Given the description of an element on the screen output the (x, y) to click on. 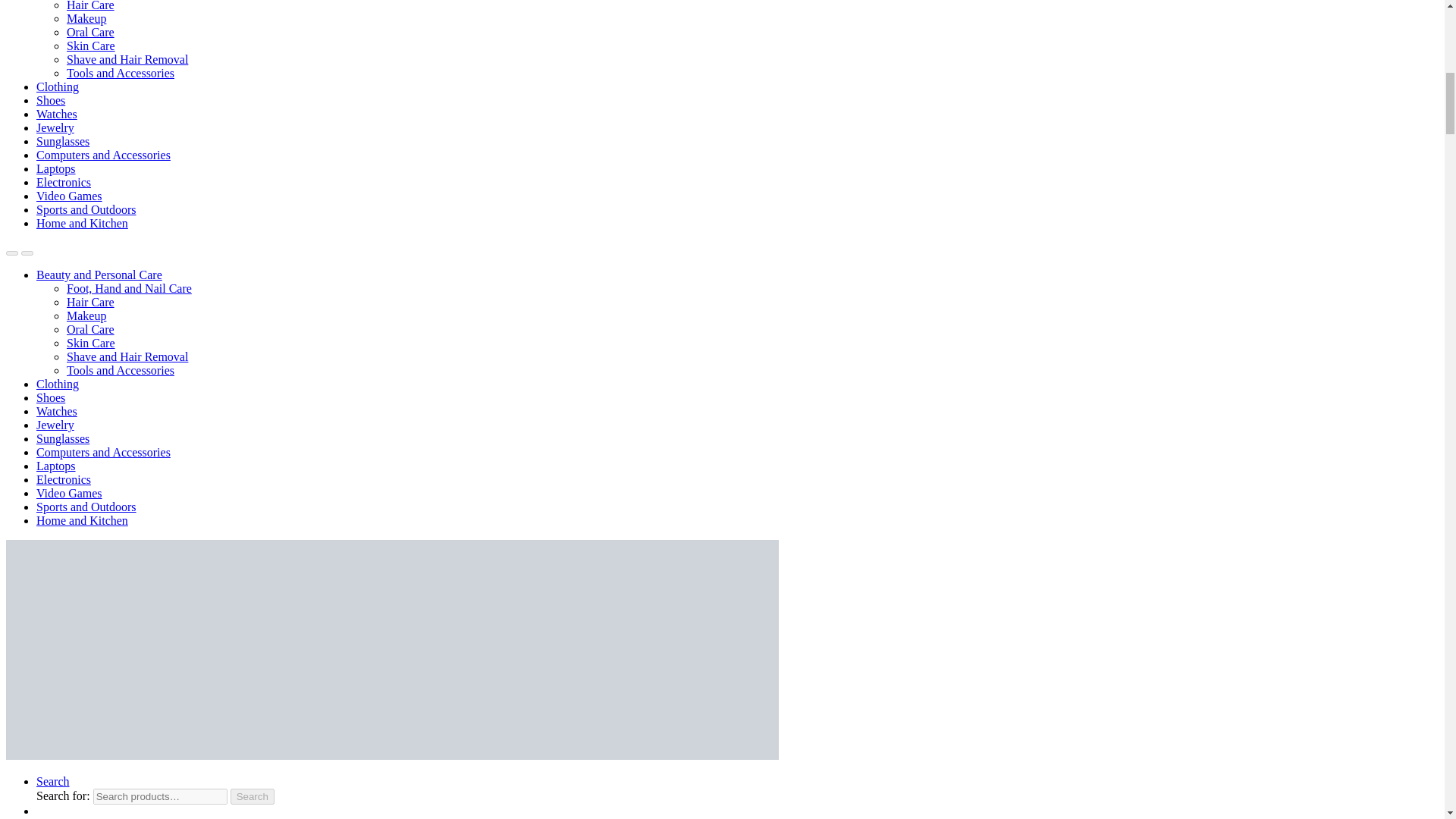
Makeup (86, 18)
Skin Care (90, 45)
Oral Care (90, 31)
Hair Care (90, 5)
Shave and Hair Removal (126, 59)
